Given the description of an element on the screen output the (x, y) to click on. 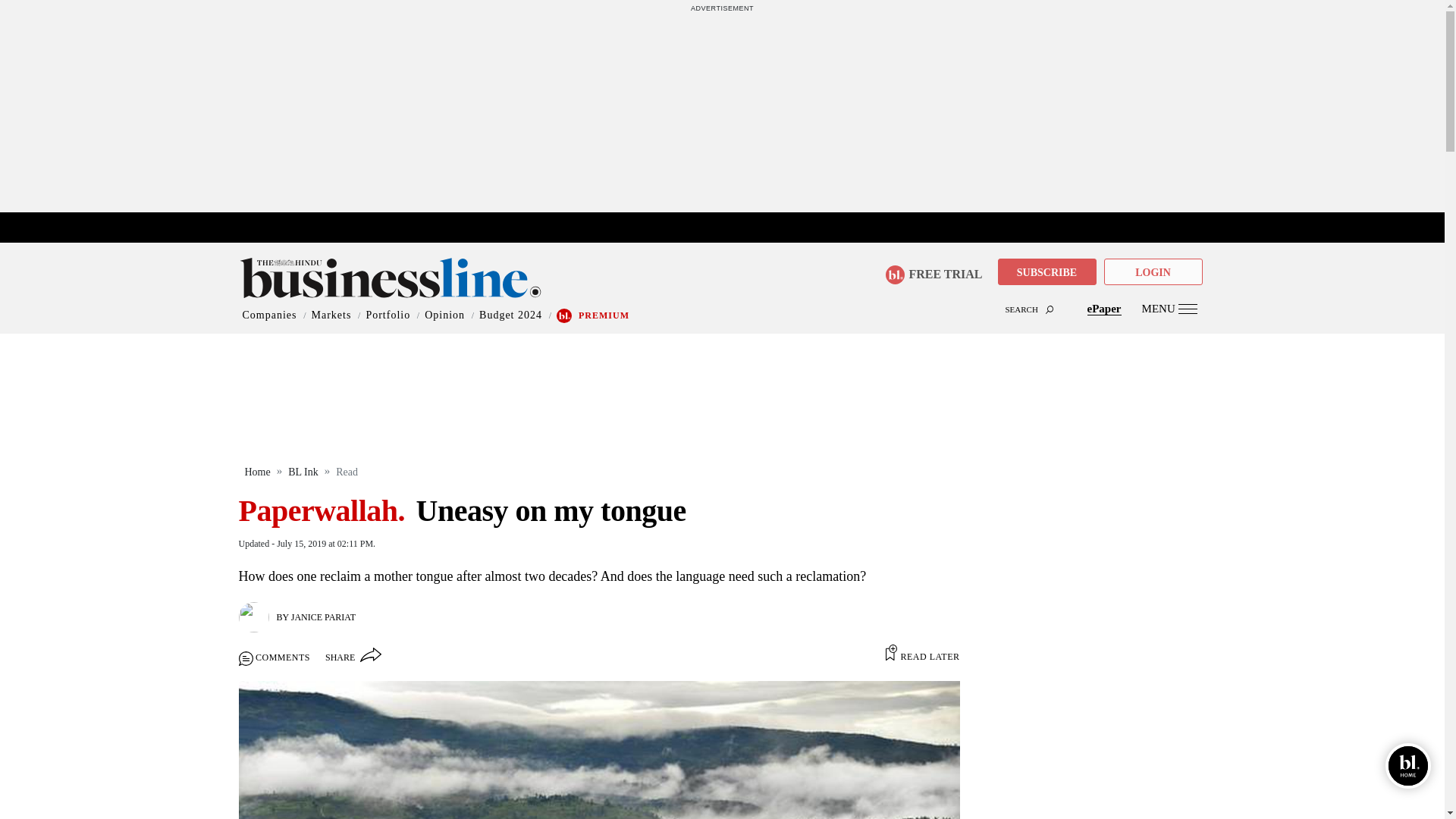
MENU (1168, 308)
FREE TRIAL (933, 275)
FREE TRIAL (938, 269)
SUBSCRIBE (1046, 272)
SUBSCRIBE (1046, 270)
Companies (270, 315)
Budget 2024 (510, 315)
SEARCH (721, 295)
PREMIUM (603, 315)
marketupdate (729, 228)
Opinion (444, 315)
Portfolio (387, 315)
ePaper (1104, 308)
Markets (330, 315)
